Given the description of an element on the screen output the (x, y) to click on. 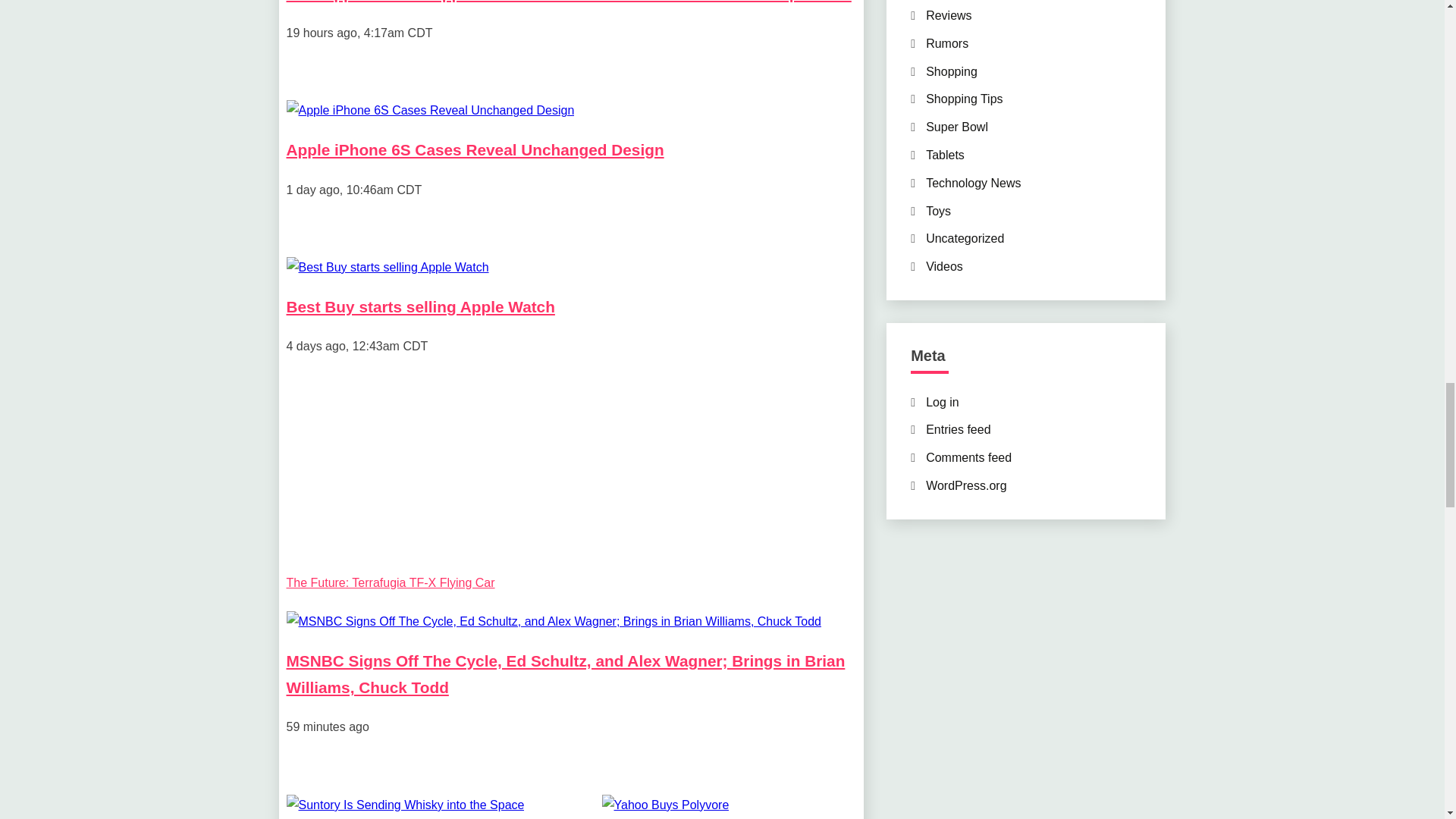
Apple iPhone 6S Cases Reveal Unchanged Design (474, 149)
The Future: Terrafugia TF-X Flying Car (390, 582)
Photo Credit: Getty Images (405, 804)
Best Buy starts selling Apple Watch (420, 306)
gsmarena (430, 109)
Credit: Getty Images (553, 620)
